Given the description of an element on the screen output the (x, y) to click on. 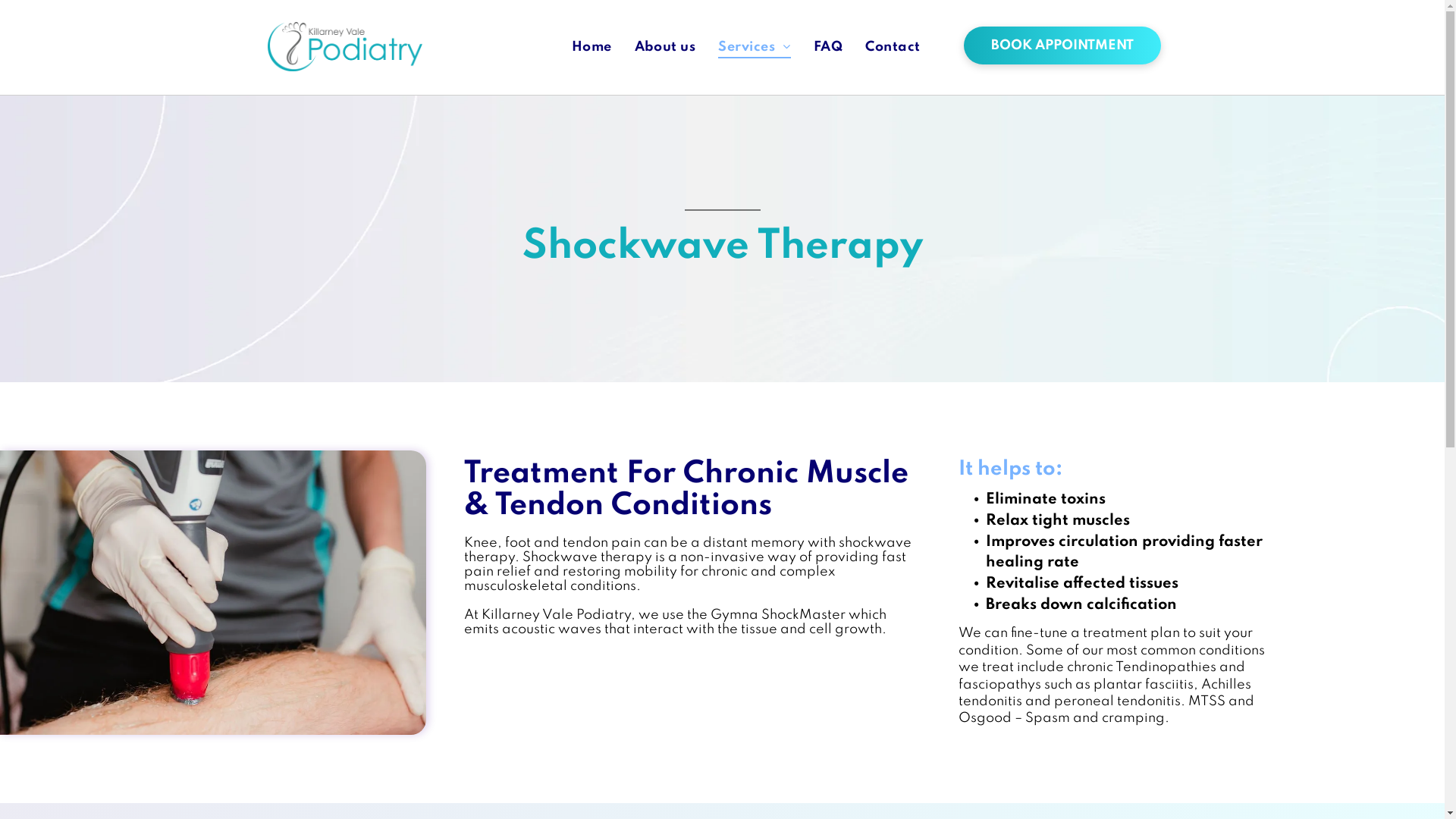
FAQ Element type: text (827, 47)
Home Element type: text (591, 47)
About us Element type: text (665, 47)
BOOK APPOINTMENT Element type: text (1061, 45)
Services Element type: text (753, 47)
Contact Element type: text (892, 47)
